Given the description of an element on the screen output the (x, y) to click on. 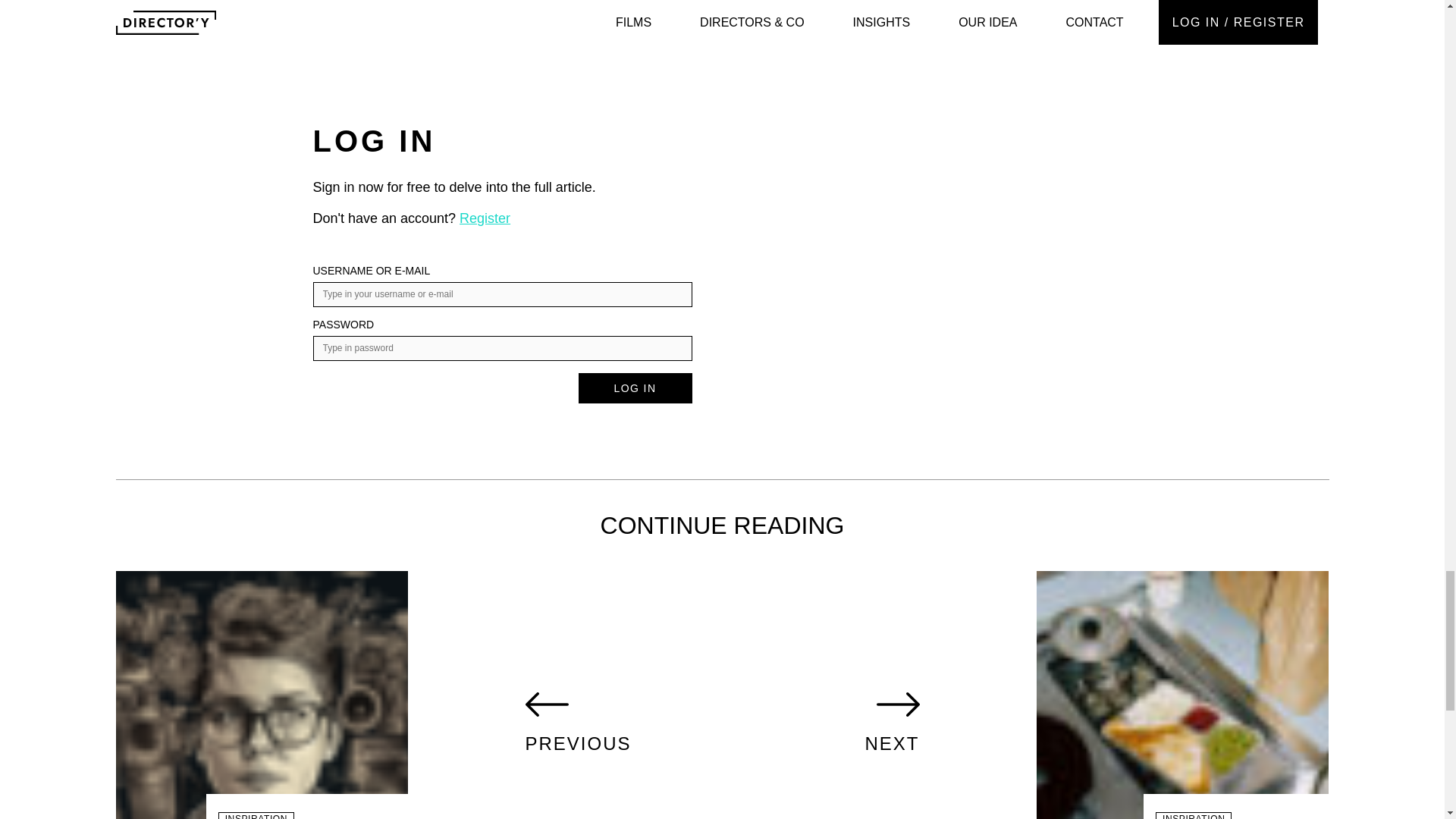
NEXT (891, 722)
Register (261, 694)
PREVIOUS (485, 218)
LOG IN (577, 722)
